Given the description of an element on the screen output the (x, y) to click on. 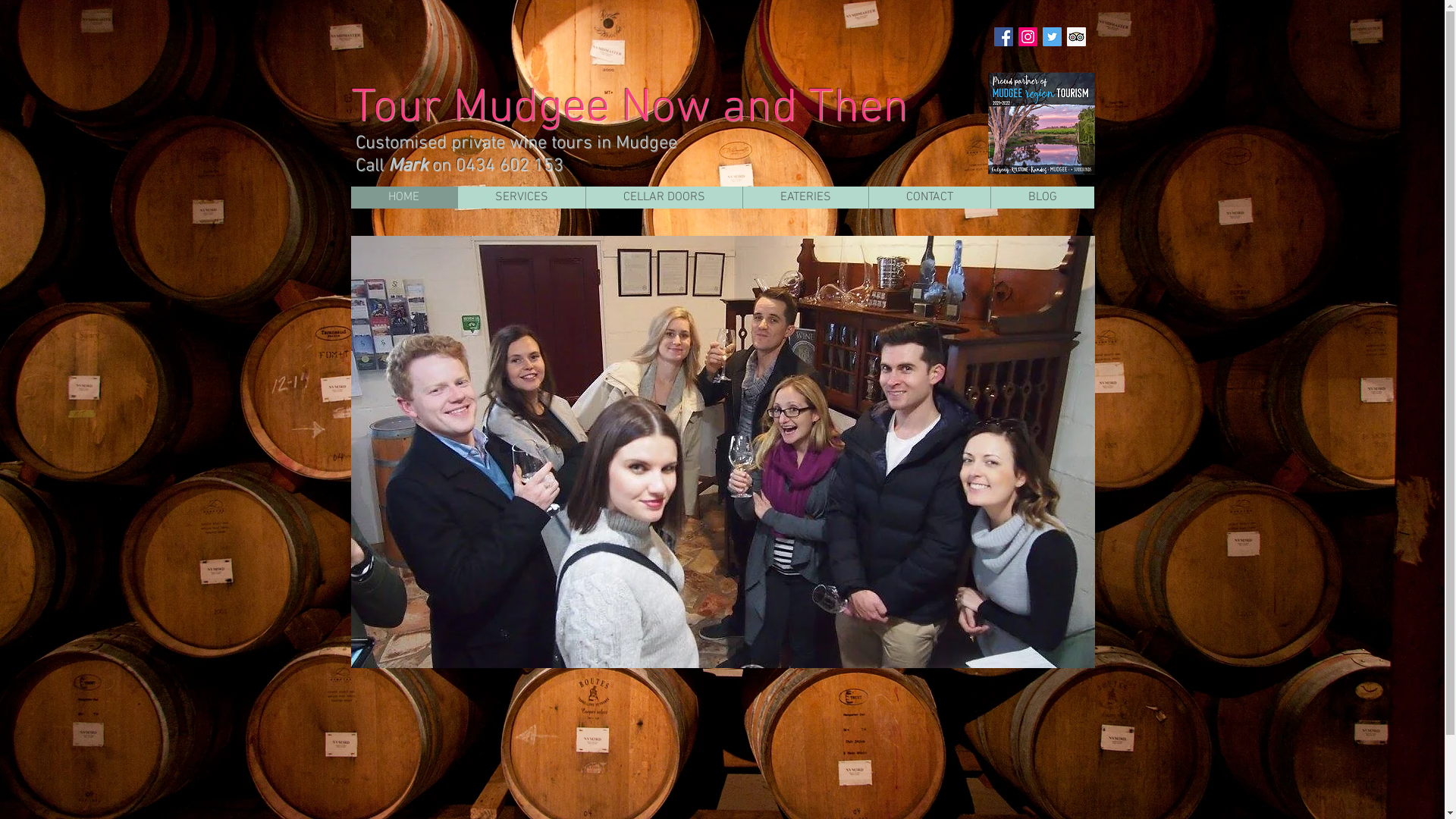
Tour Mudgee Now and Then Element type: text (628, 108)
CONTACT Element type: text (928, 197)
SERVICES Element type: text (520, 197)
EATERIES Element type: text (804, 197)
HOME Element type: text (403, 197)
CELLAR DOORS Element type: text (663, 197)
BLOG Element type: text (1042, 197)
